Given the description of an element on the screen output the (x, y) to click on. 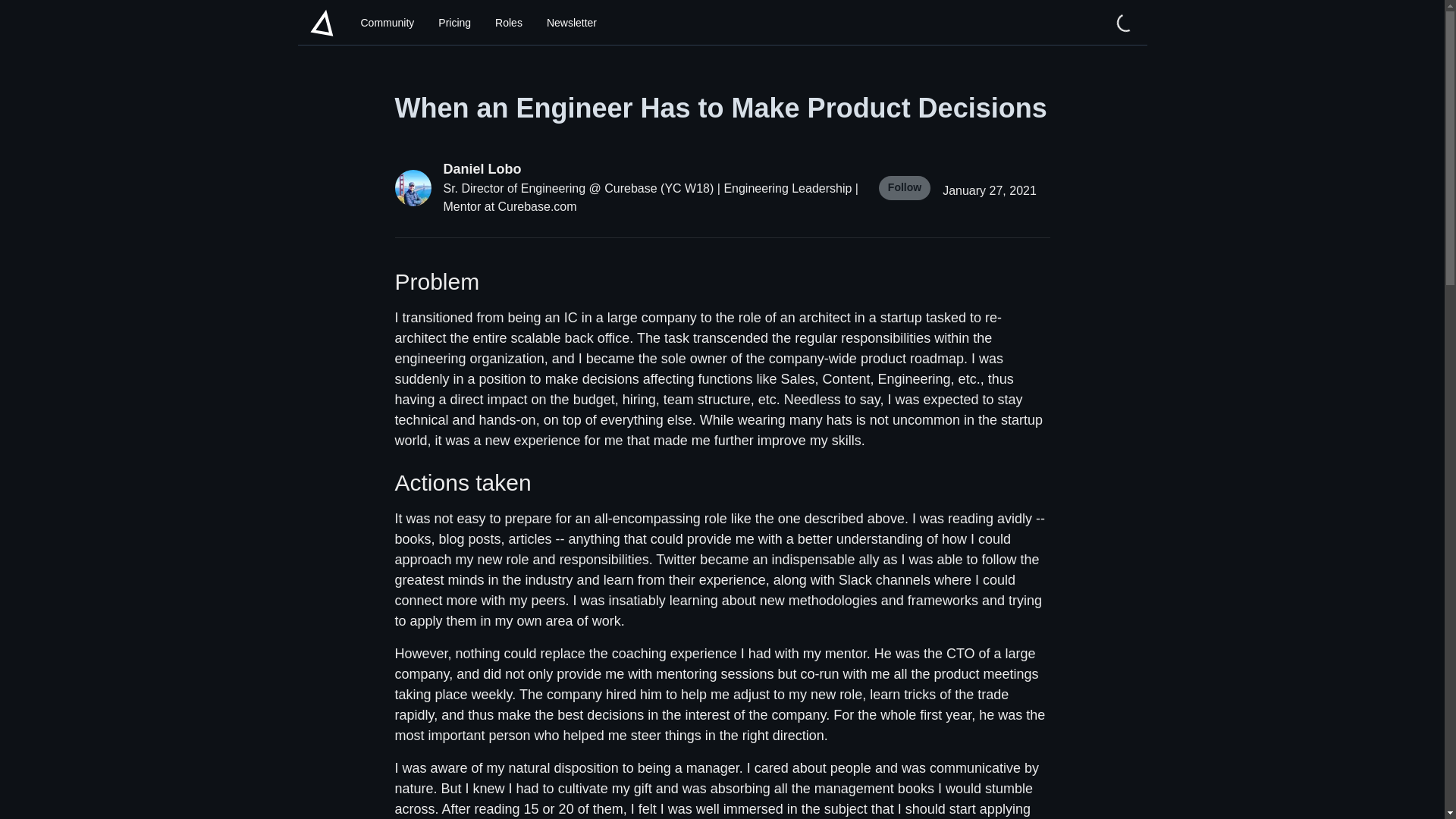
Daniel Lobo (651, 168)
Follow (904, 187)
Community (387, 22)
Pricing (454, 22)
Newsletter (571, 22)
Roles (508, 22)
